Given the description of an element on the screen output the (x, y) to click on. 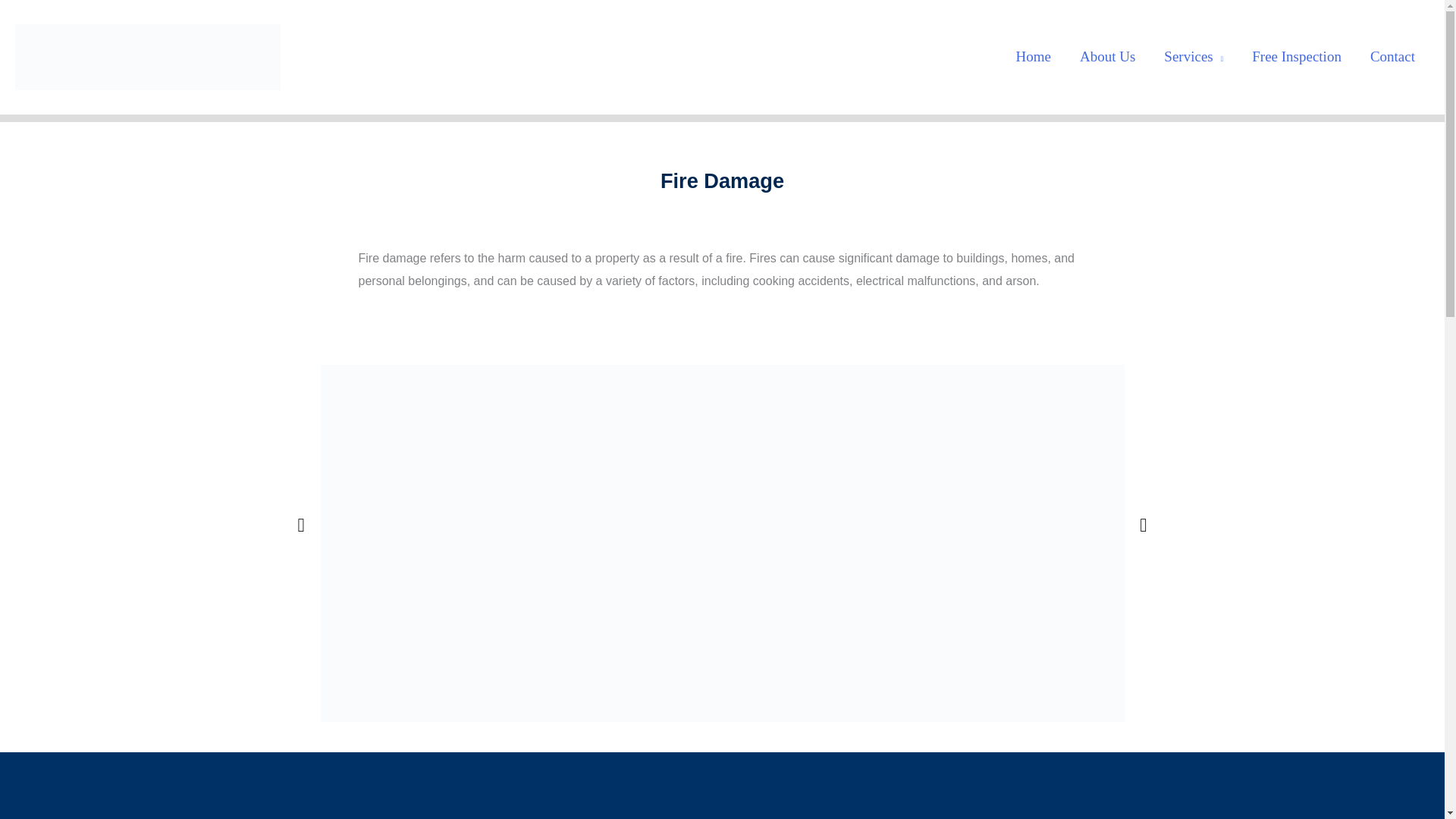
Free Inspection (1296, 56)
About Us (1107, 56)
Services (1193, 56)
Contact (1392, 56)
Home (1033, 56)
